Given the description of an element on the screen output the (x, y) to click on. 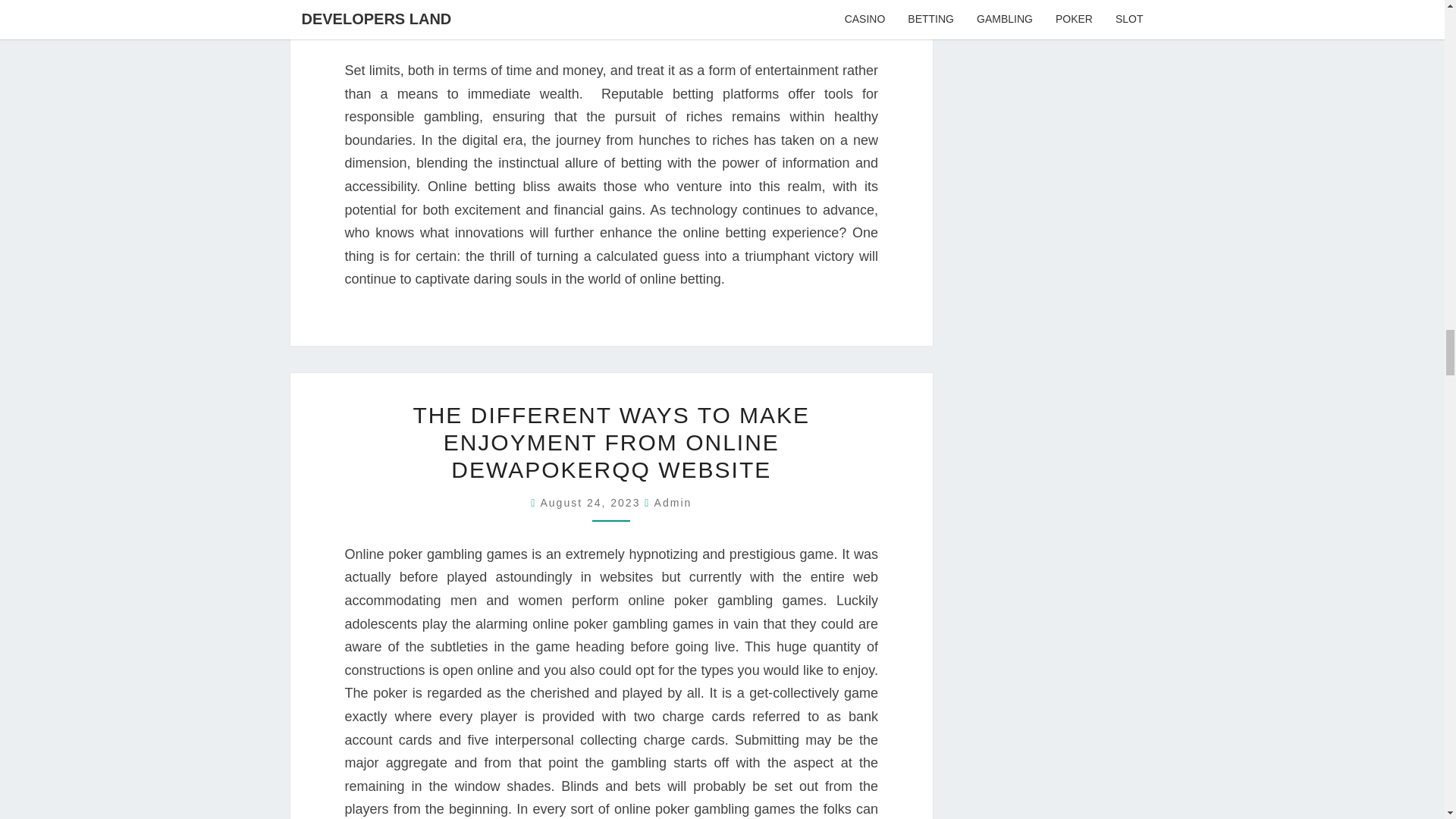
11:47 am (592, 502)
Admin (673, 502)
View all posts by admin (673, 502)
August 24, 2023 (592, 502)
